Given the description of an element on the screen output the (x, y) to click on. 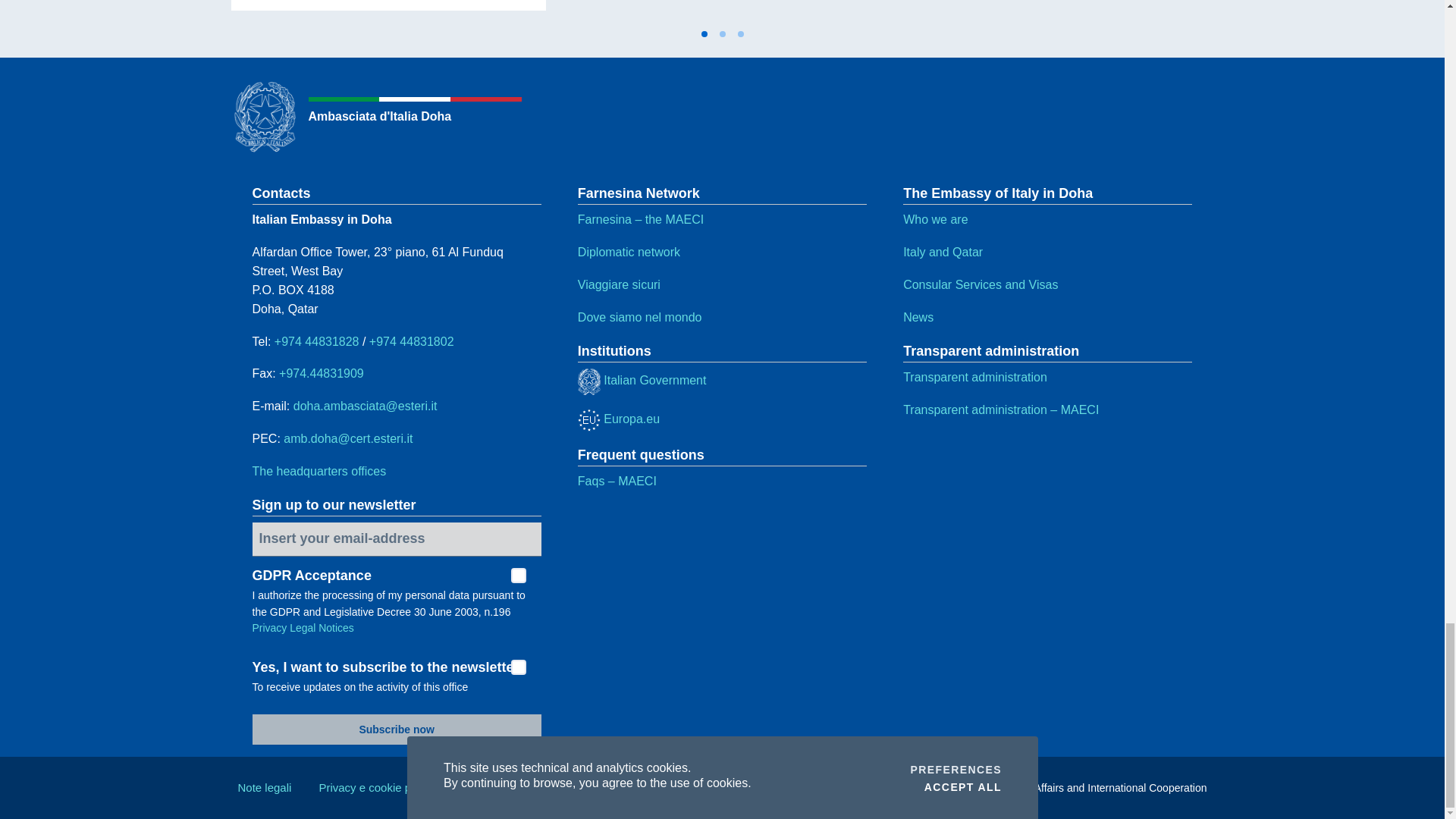
Subscribe now (395, 729)
